Given the description of an element on the screen output the (x, y) to click on. 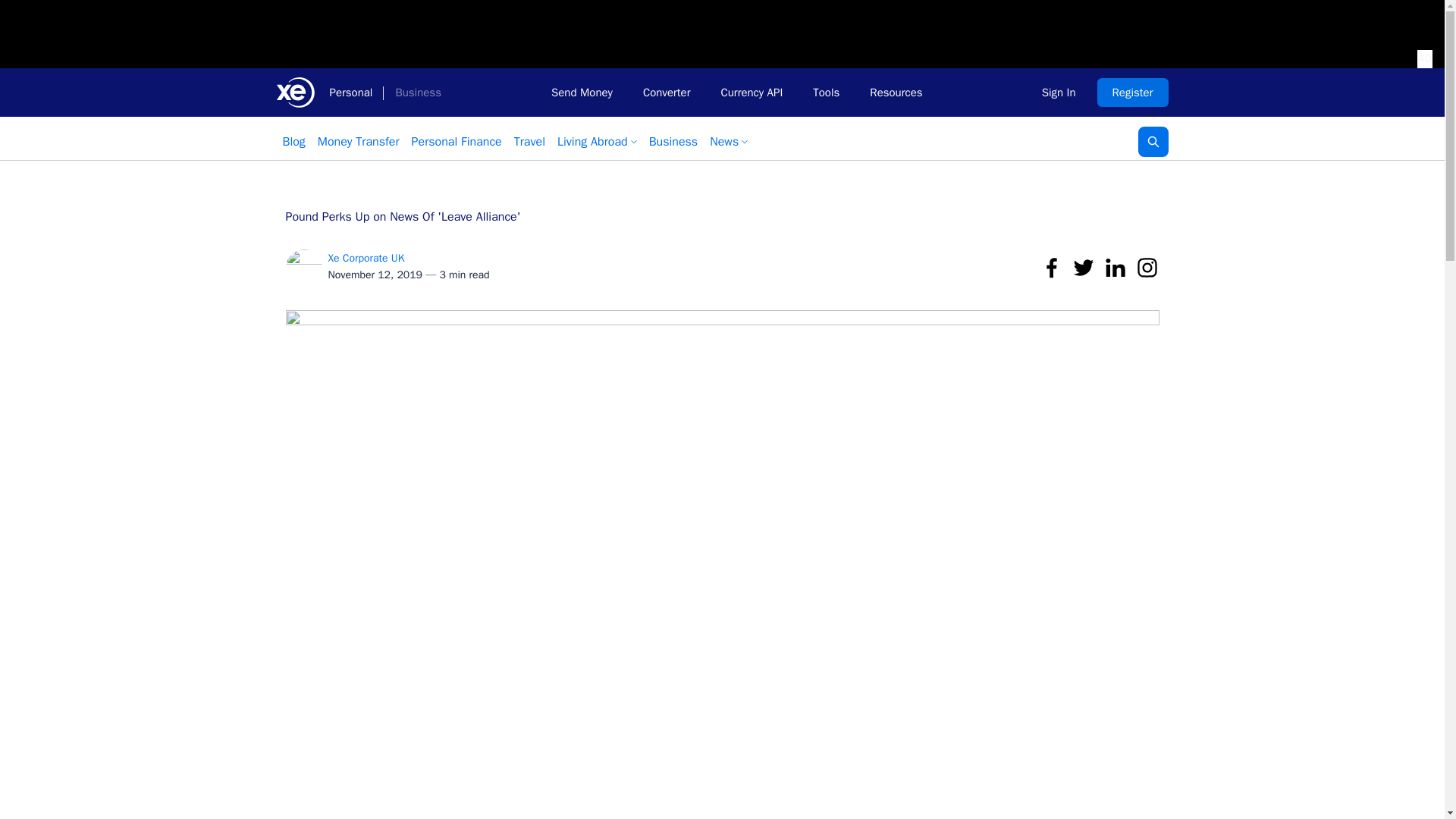
Personal (350, 92)
Currency API (750, 92)
Sign In (1058, 92)
Converter (666, 92)
Send Money (581, 92)
Tools (825, 92)
Register (1133, 92)
Business (417, 92)
Resources (895, 92)
